Given the description of an element on the screen output the (x, y) to click on. 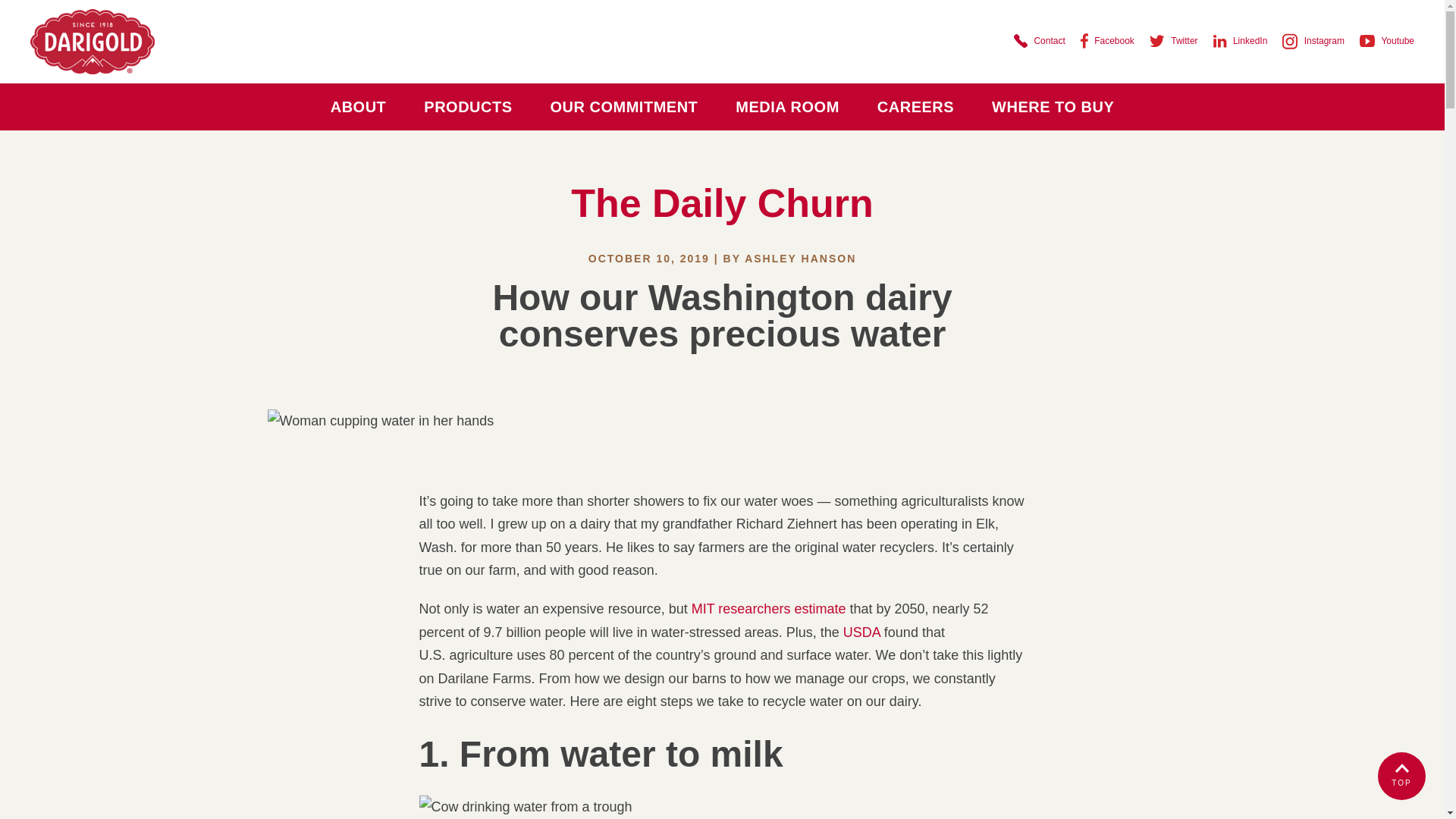
Instagram (1312, 40)
Twitter (1174, 40)
MEDIA ROOM (786, 106)
Facebook (1107, 40)
WHERE TO BUY (1052, 106)
TOP (1401, 776)
Contact (1039, 40)
Darigold (92, 41)
ABOUT (358, 106)
OUR COMMITMENT (624, 106)
CAREERS (915, 106)
Youtube (1386, 40)
USDA (861, 631)
PRODUCTS (467, 106)
LinkedIn (1240, 40)
